Given the description of an element on the screen output the (x, y) to click on. 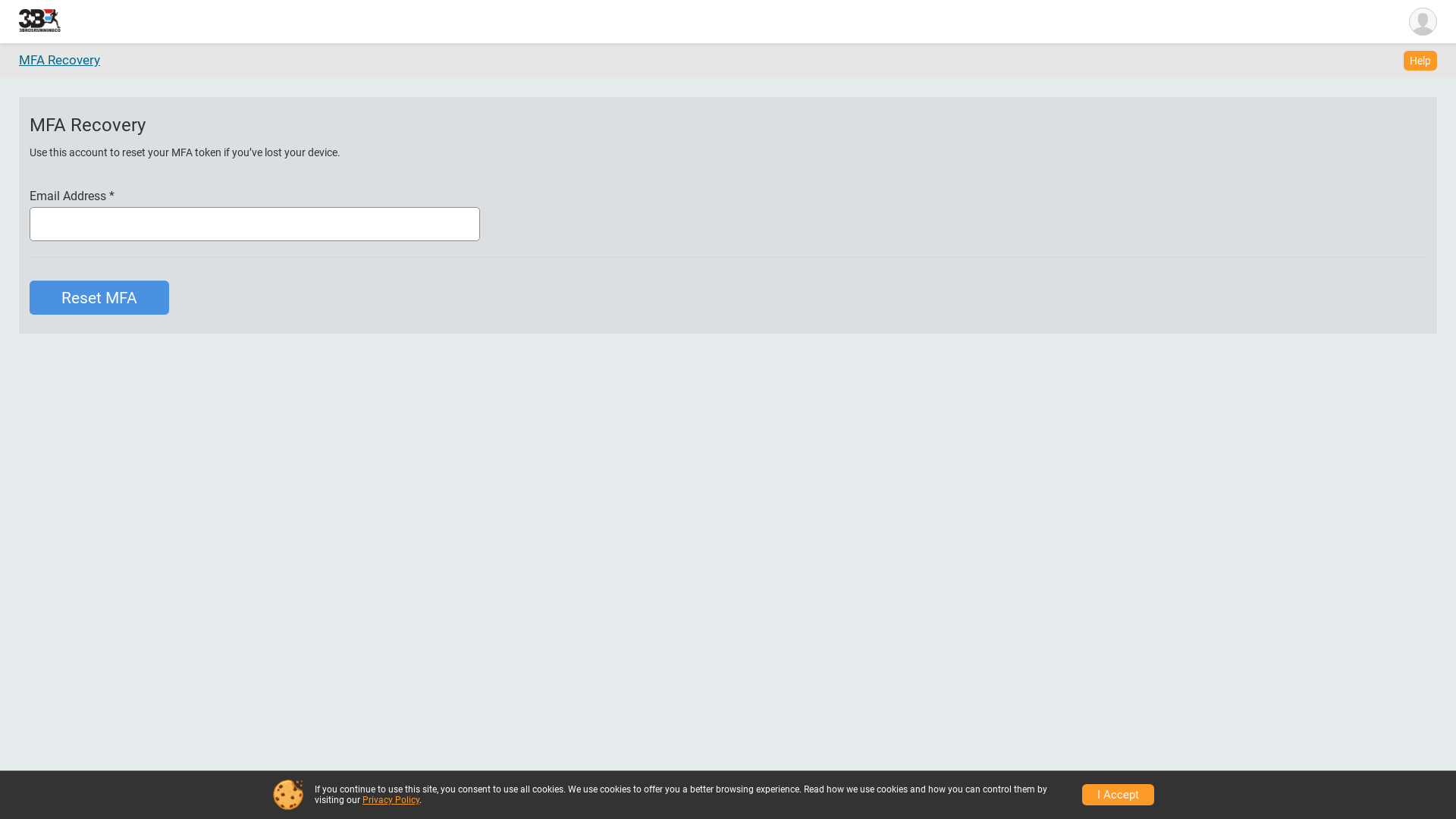
I Accept Element type: text (1118, 794)
Privacy Policy Element type: text (390, 799)
MFA Recovery Element type: text (59, 59)
Back to 3 Bros Running Company Home Page Element type: hover (39, 21)
Reset MFA Element type: text (99, 297)
Help Element type: text (1420, 60)
